Given the description of an element on the screen output the (x, y) to click on. 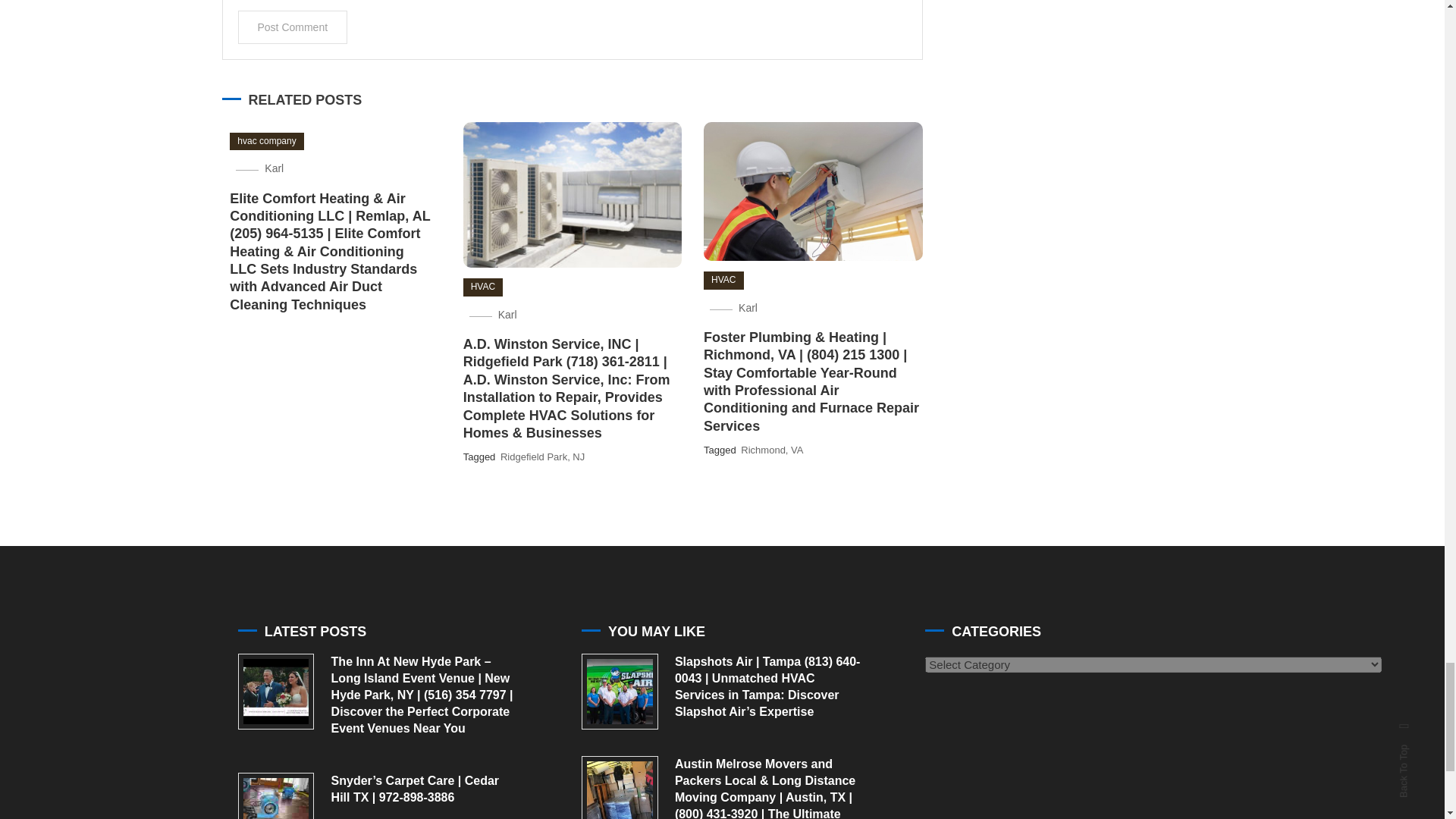
Post Comment (292, 27)
